Given the description of an element on the screen output the (x, y) to click on. 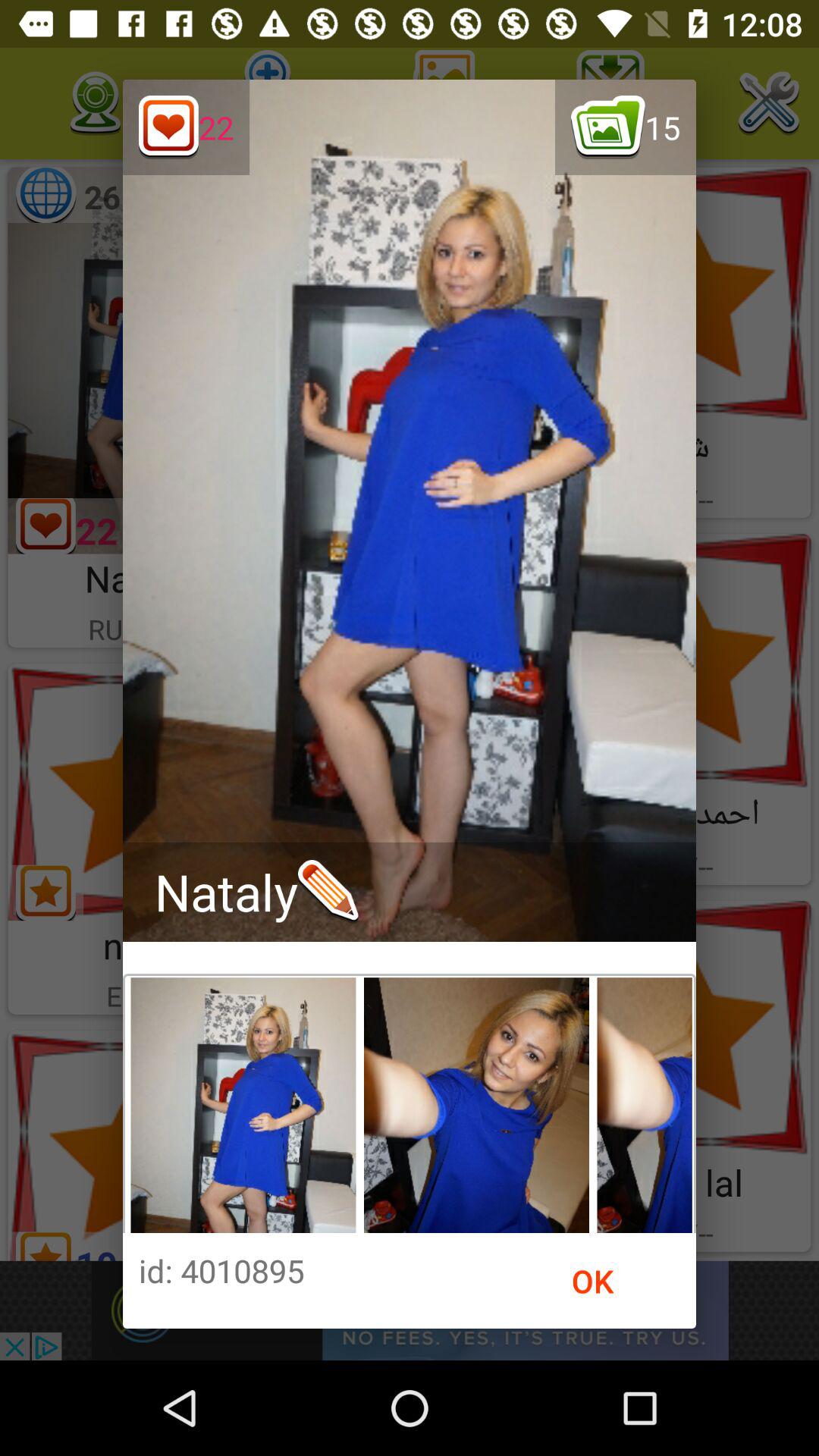
turn on the ok icon (592, 1280)
